Given the description of an element on the screen output the (x, y) to click on. 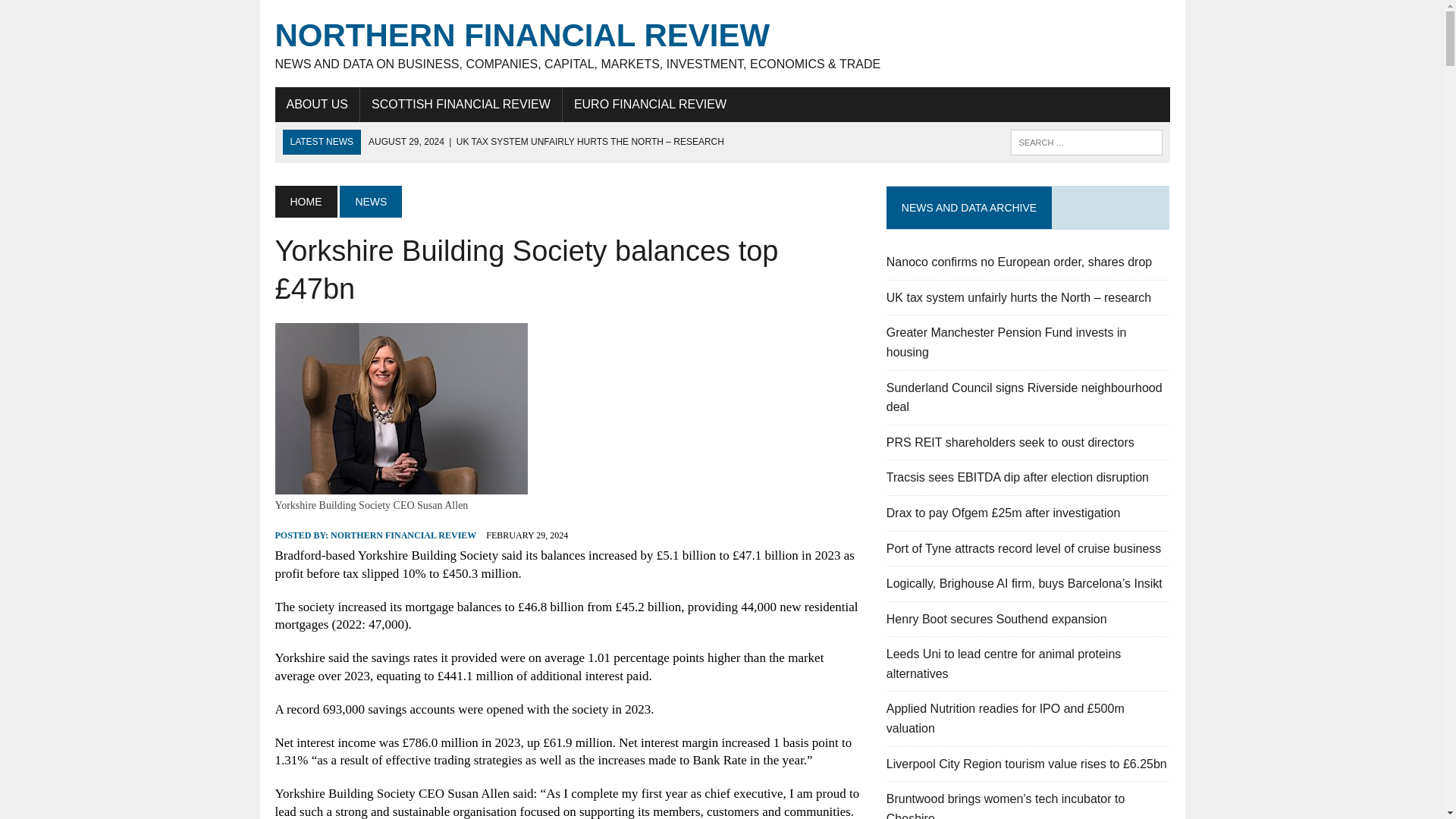
NEWS (370, 201)
Leeds Uni to lead centre for animal proteins alternatives (1003, 663)
HOME (305, 201)
Tracsis sees EBITDA dip after election disruption (1017, 477)
Sunderland Council signs Riverside neighbourhood deal (1023, 397)
Search (75, 14)
PRS REIT shareholders seek to oust directors (1010, 441)
Port of Tyne attracts record level of cruise business (1023, 548)
Nanoco confirms no European order, shares drop (1018, 261)
ABOUT US (317, 104)
